Given the description of an element on the screen output the (x, y) to click on. 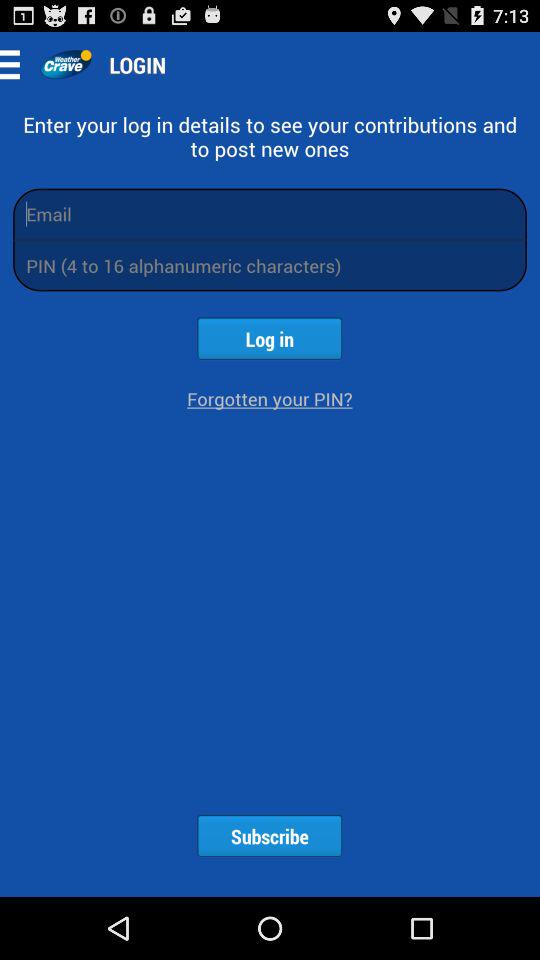
tap item above the enter your log icon (16, 63)
